Given the description of an element on the screen output the (x, y) to click on. 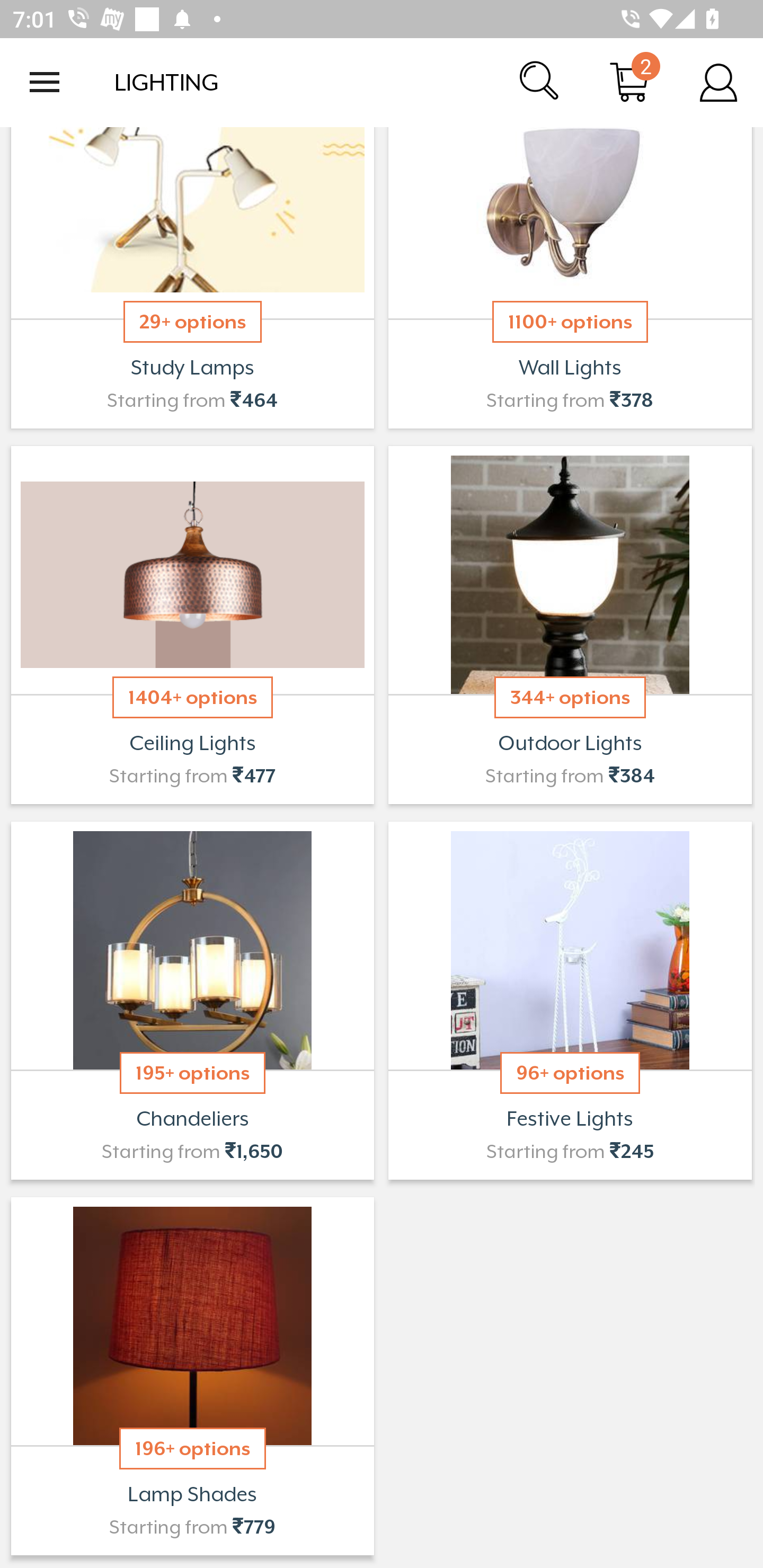
Open navigation drawer (44, 82)
Search (540, 81)
Cart (629, 81)
Account Details (718, 81)
29+ options Study Lamps Starting from  ₹464 (191, 279)
1100+ options Wall Lights Starting from  ₹378 (570, 279)
1404+ options Ceiling Lights Starting from  ₹477 (191, 624)
344+ options Outdoor Lights Starting from  ₹384 (570, 624)
195+ options Chandeliers Starting from  ₹1,650 (191, 999)
96+ options Festive Lights Starting from  ₹245 (570, 999)
196+ options Lamp Shades Starting from  ₹779 (191, 1375)
